Given the description of an element on the screen output the (x, y) to click on. 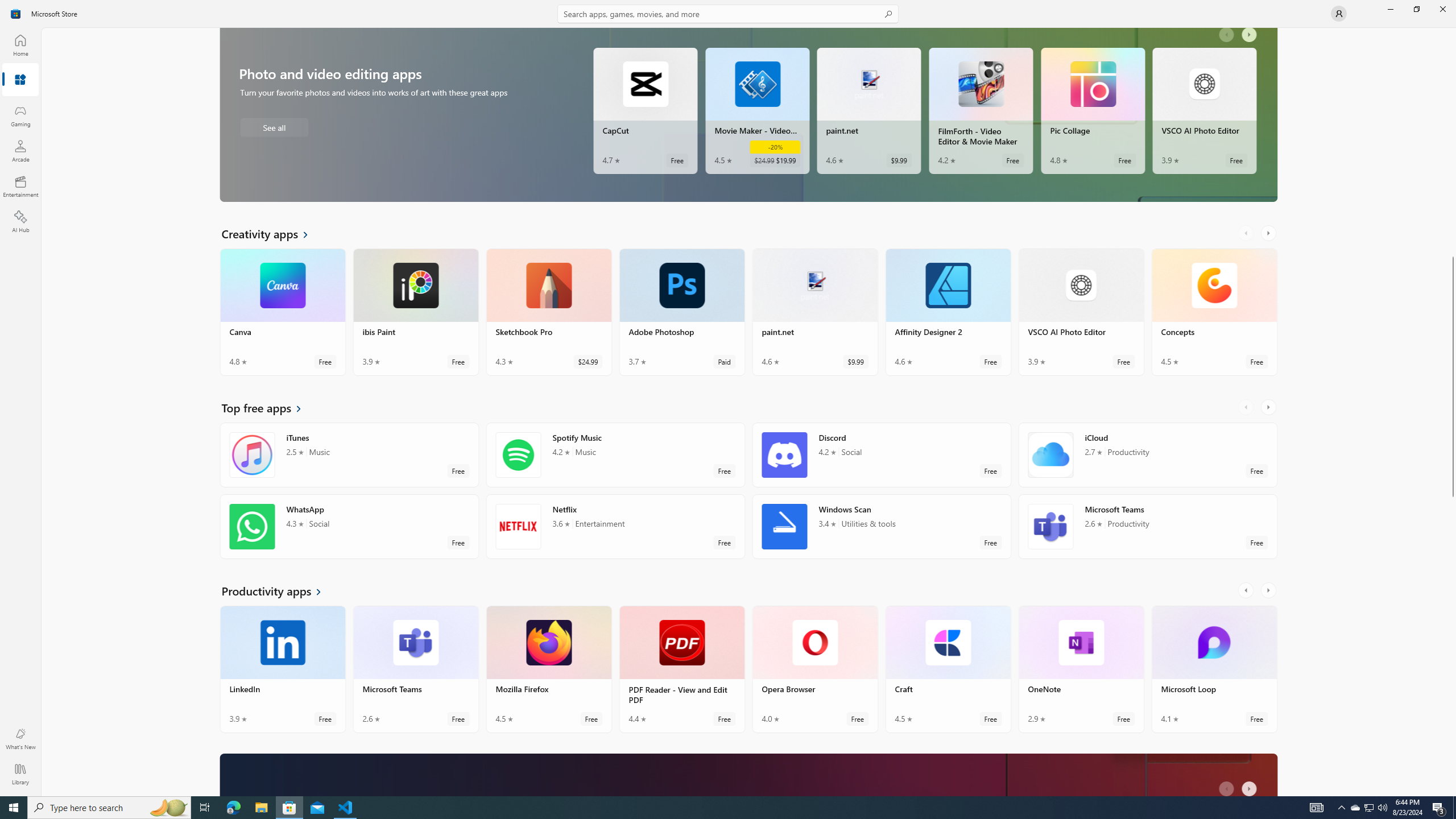
Home (20, 45)
Arcade (20, 150)
CapCut. Average rating of 4.7 out of five stars. Free   (644, 110)
ibis Paint. Average rating of 3.9 out of five stars. Free   (415, 311)
Gaming (20, 115)
Vertical Small Increase (1452, 792)
User profile (1338, 13)
AutomationID: RightScrollButton (1250, 784)
Vertical Large Increase (1452, 642)
See all  Photo and video editing apps (274, 126)
